Given the description of an element on the screen output the (x, y) to click on. 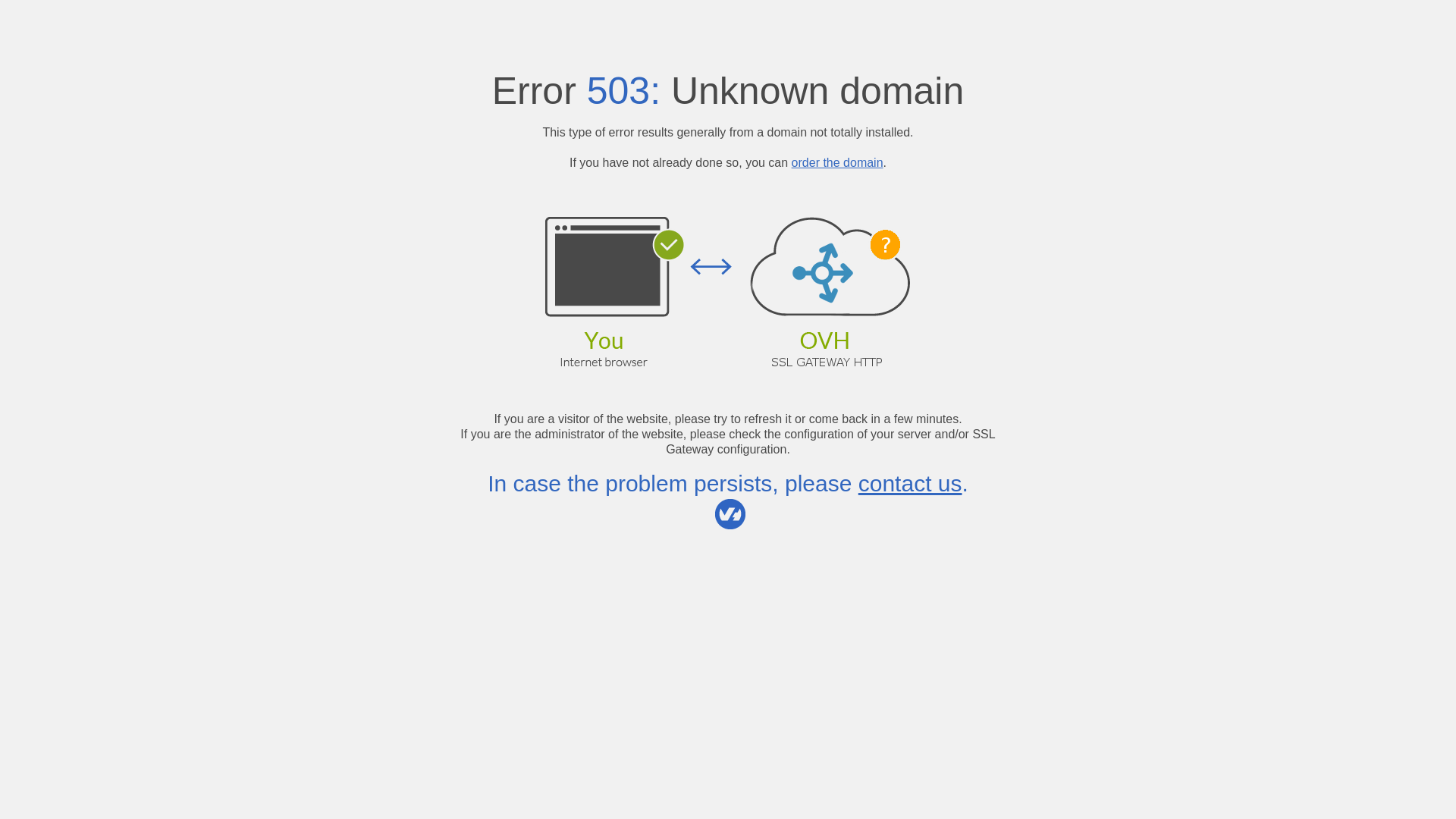
order the domain Element type: text (837, 162)
contact us Element type: text (910, 482)
